Given the description of an element on the screen output the (x, y) to click on. 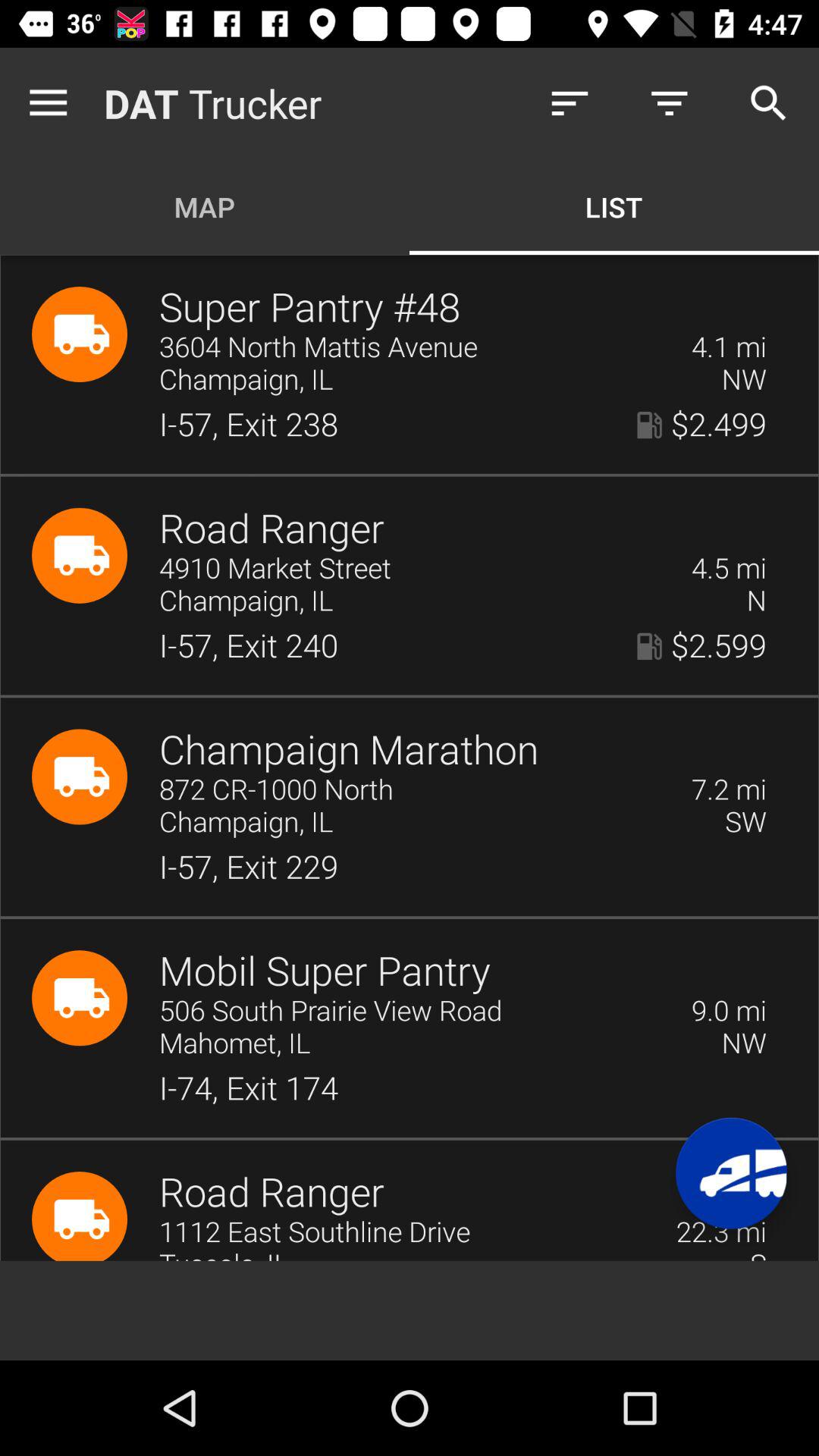
open the item next to the dat icon (52, 103)
